Given the description of an element on the screen output the (x, y) to click on. 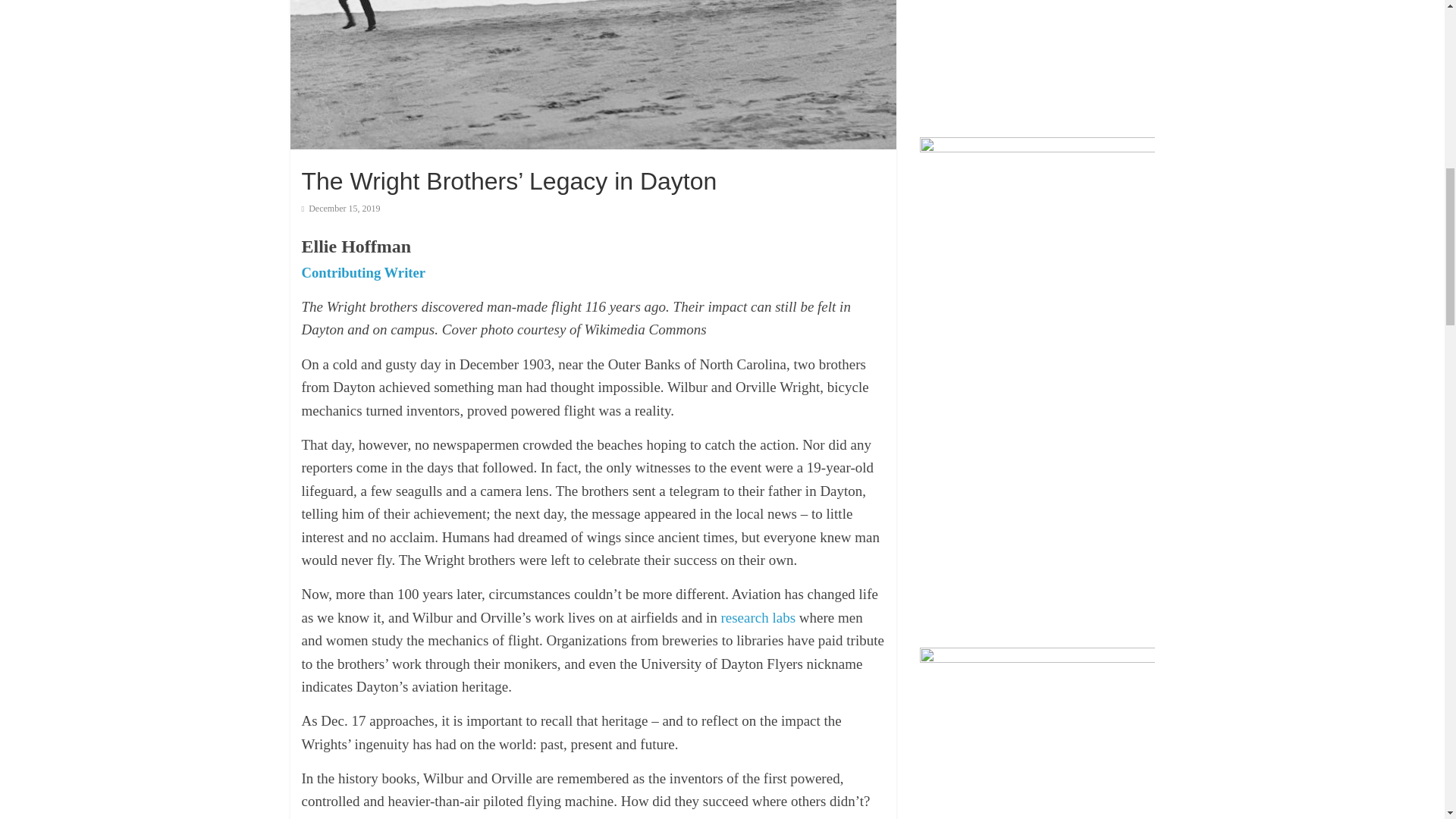
Contributing Writer (363, 272)
11:14 PM (340, 208)
December 15, 2019 (340, 208)
research labs (757, 617)
